Given the description of an element on the screen output the (x, y) to click on. 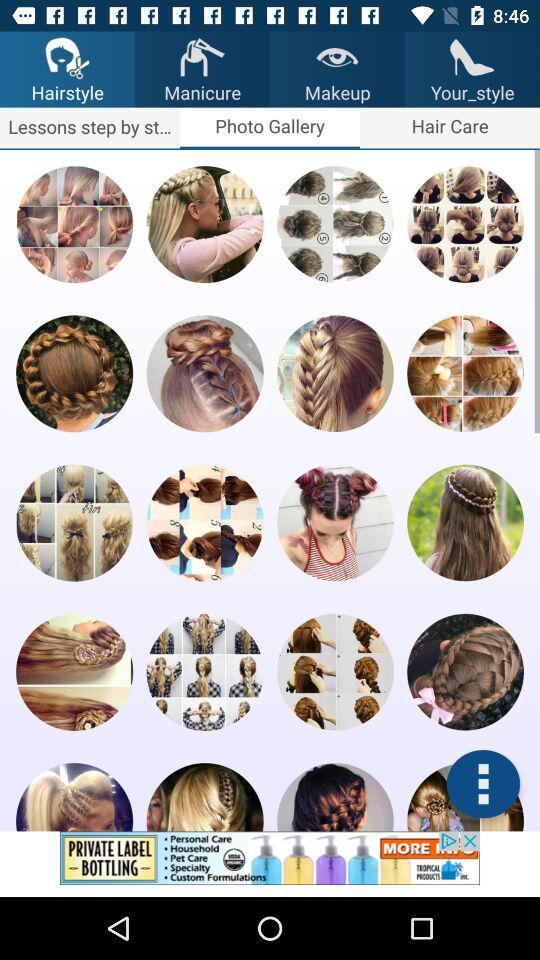
open image (465, 373)
